Given the description of an element on the screen output the (x, y) to click on. 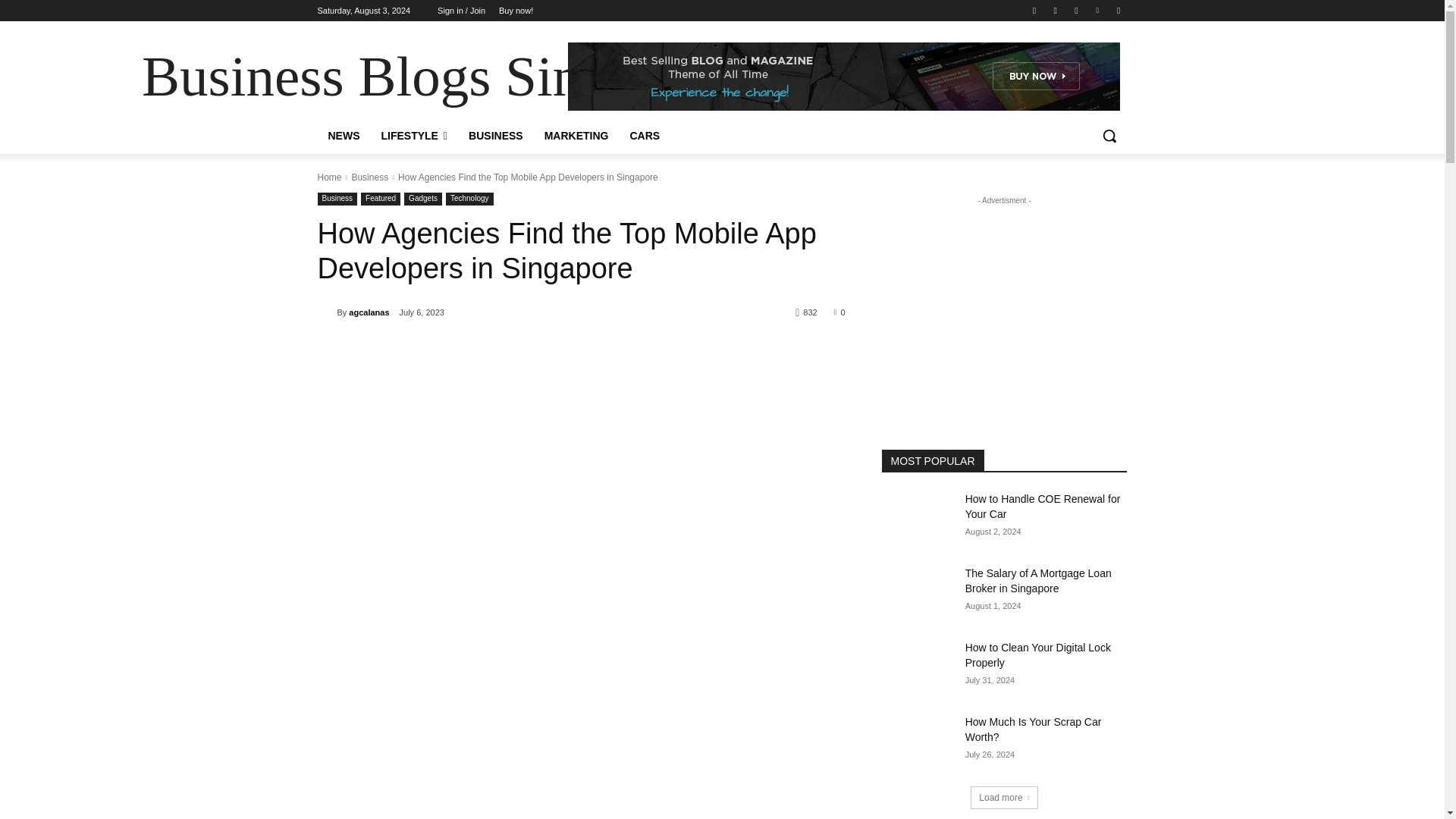
Instagram (1055, 9)
Vimeo (1097, 9)
Buy now! (515, 10)
Business Blogs Singapore (438, 76)
Youtube (1117, 9)
Facebook (1034, 9)
NEWS (343, 135)
Twitter (1075, 9)
LIFESTYLE (413, 135)
